Given the description of an element on the screen output the (x, y) to click on. 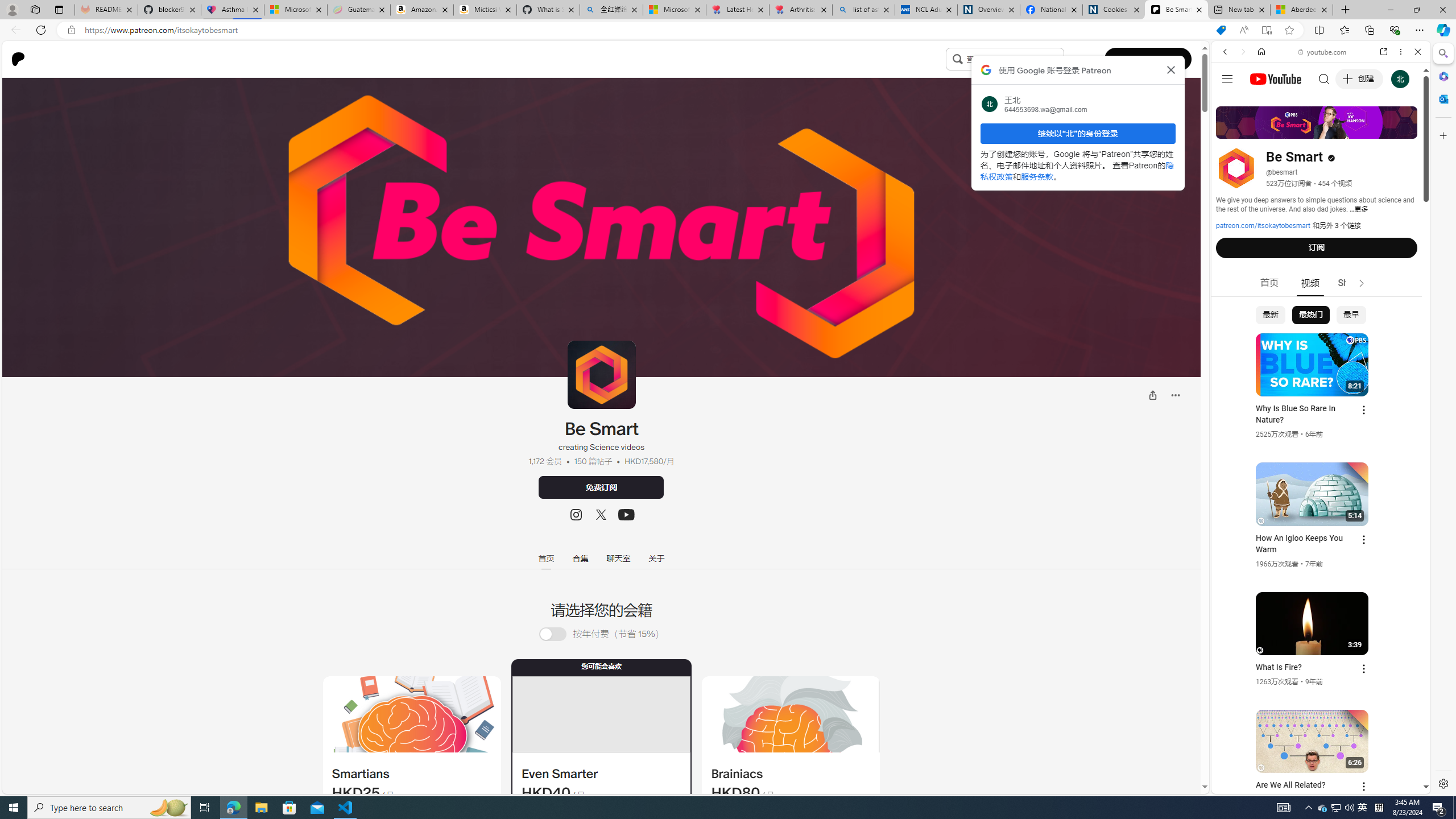
IMAGES (1262, 130)
Be Smart | creating Science videos | Patreon (1176, 9)
To get missing image descriptions, open the context menu. (410, 713)
Loading (552, 634)
Class: dict_pnIcon rms_img (1312, 784)
YouTube - YouTube (1315, 560)
Open link in new tab (1383, 51)
WEB   (1230, 130)
youtube.com (1322, 51)
